Given the description of an element on the screen output the (x, y) to click on. 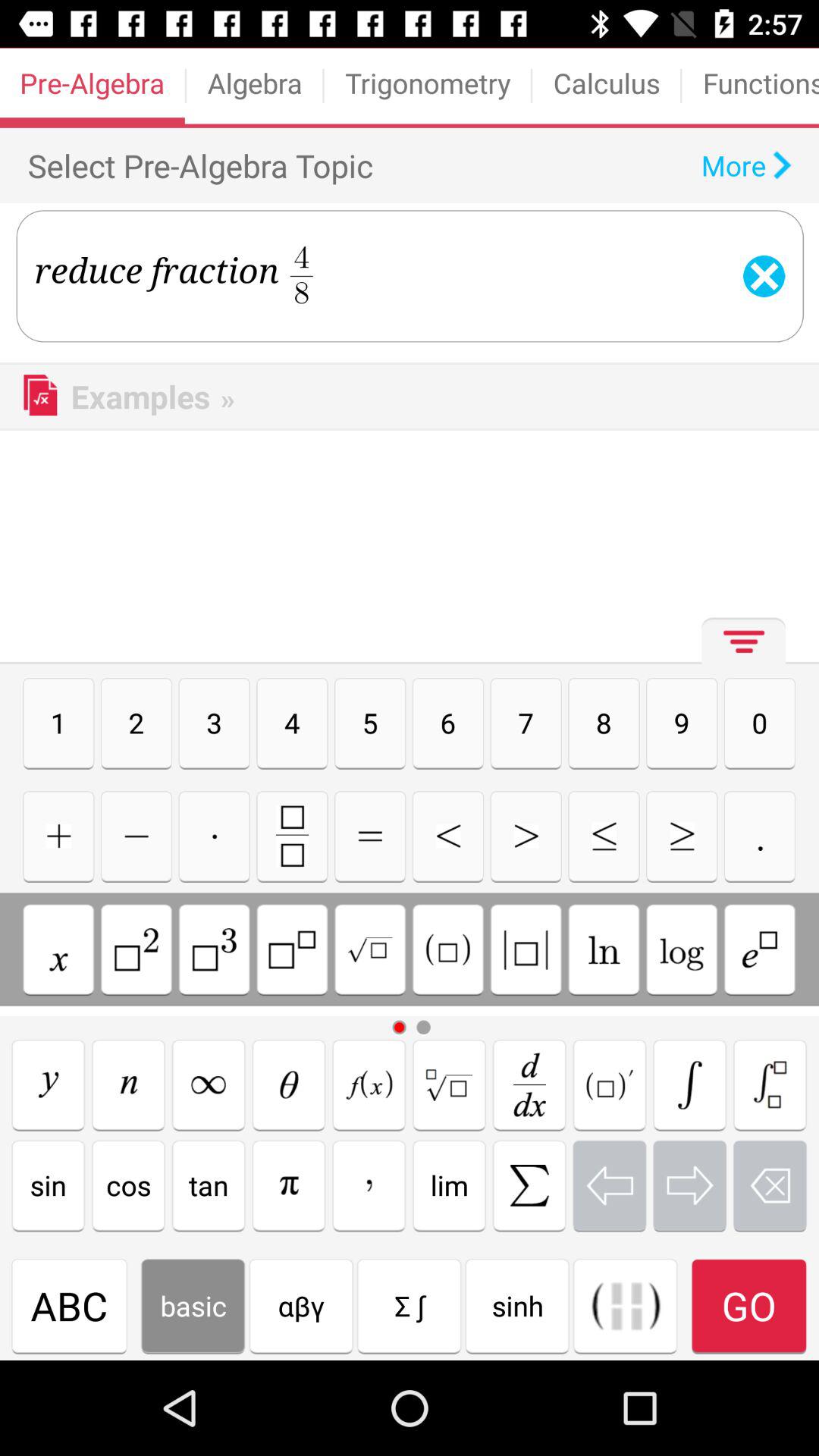
insert brackets (526, 949)
